Given the description of an element on the screen output the (x, y) to click on. 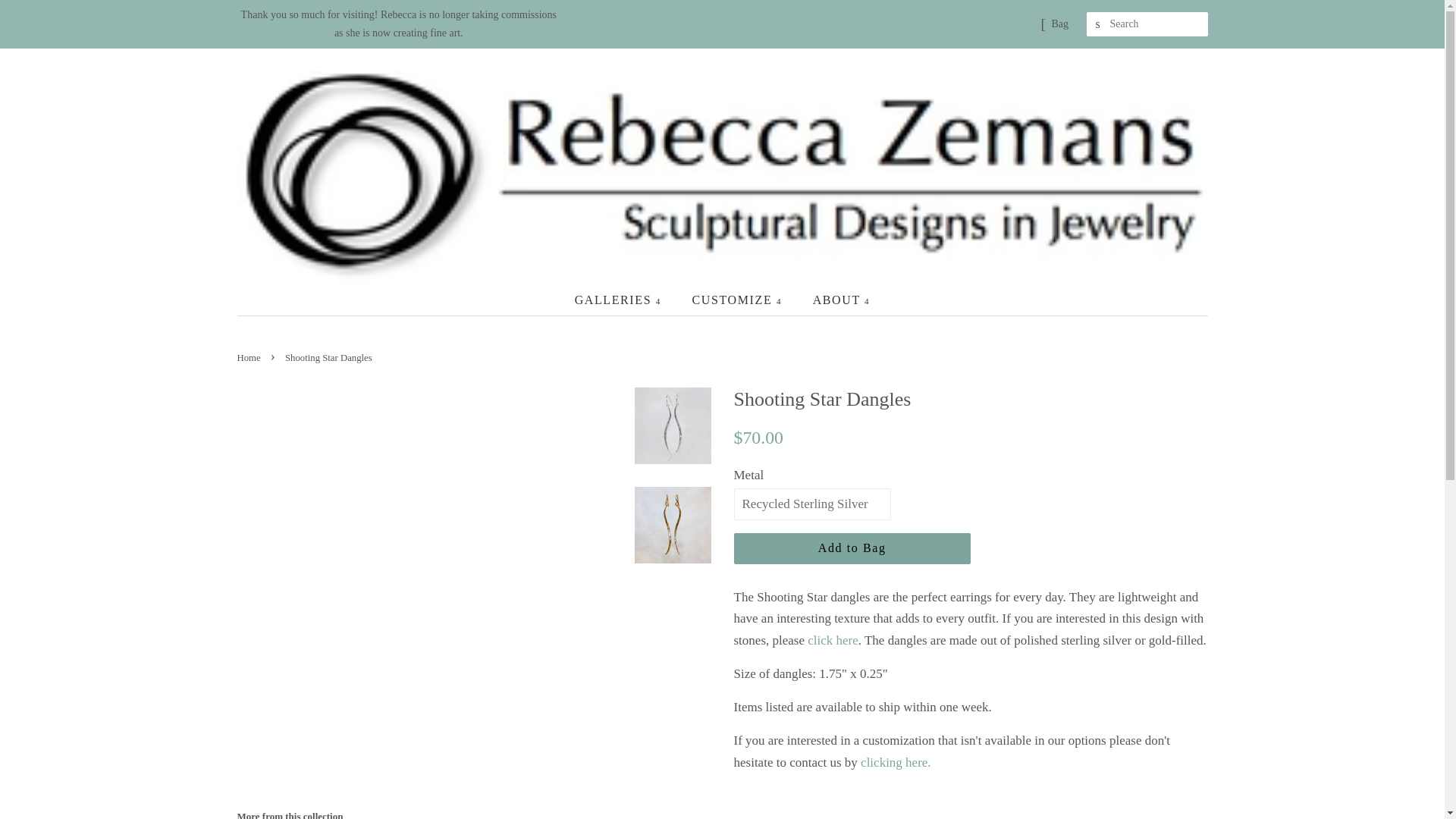
Search (1097, 24)
Back to the frontpage (249, 357)
Bag (1059, 24)
GALLERIES (626, 299)
